Given the description of an element on the screen output the (x, y) to click on. 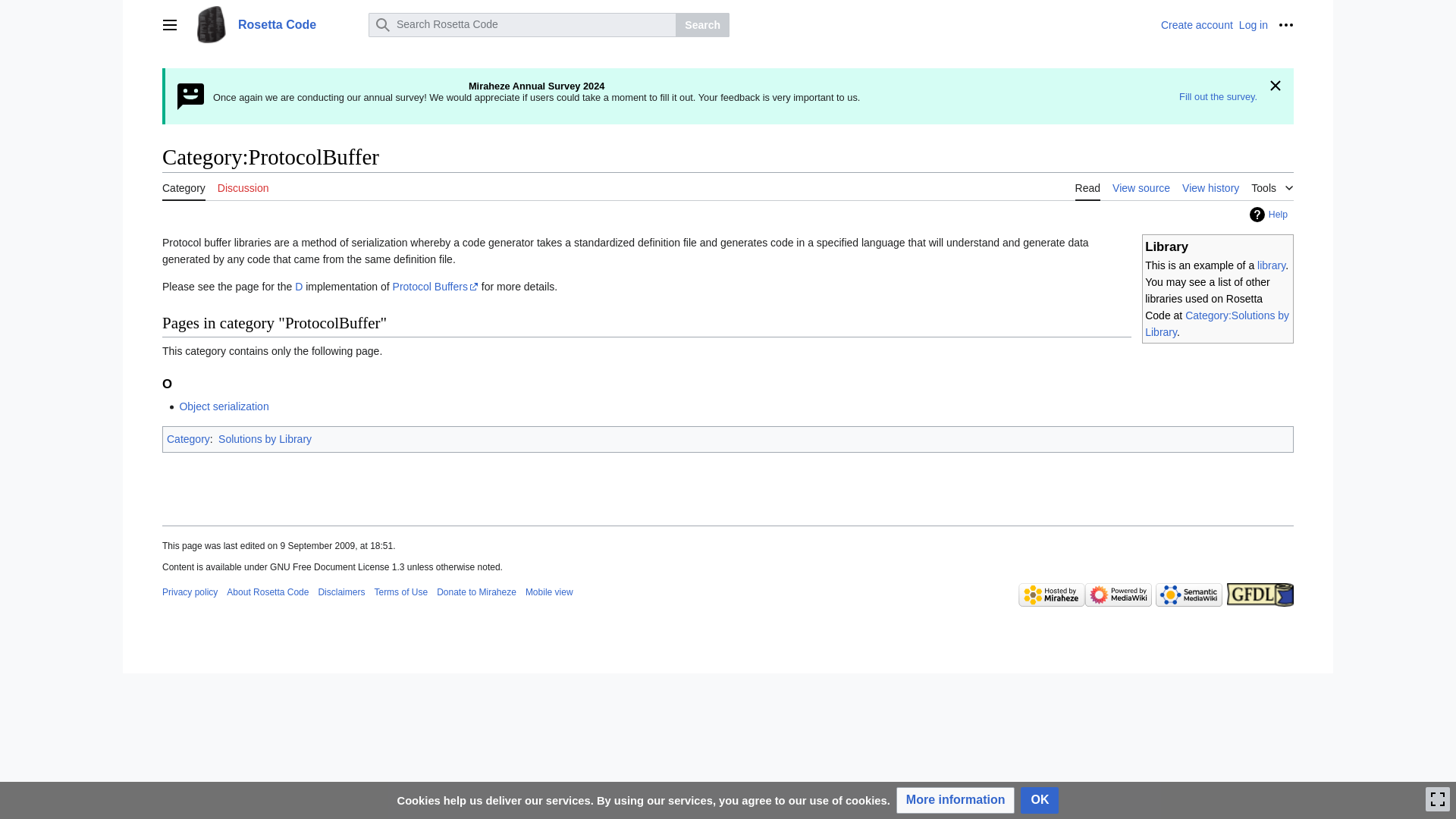
Rosetta Code (276, 24)
Hide (1275, 86)
Create account (1196, 24)
Search (702, 24)
View history (1210, 186)
Fill out the survey. (1218, 96)
More options (1286, 24)
Log in (1253, 24)
Category (183, 186)
Discussion (242, 186)
Read (1087, 186)
View source (1141, 186)
